Given the description of an element on the screen output the (x, y) to click on. 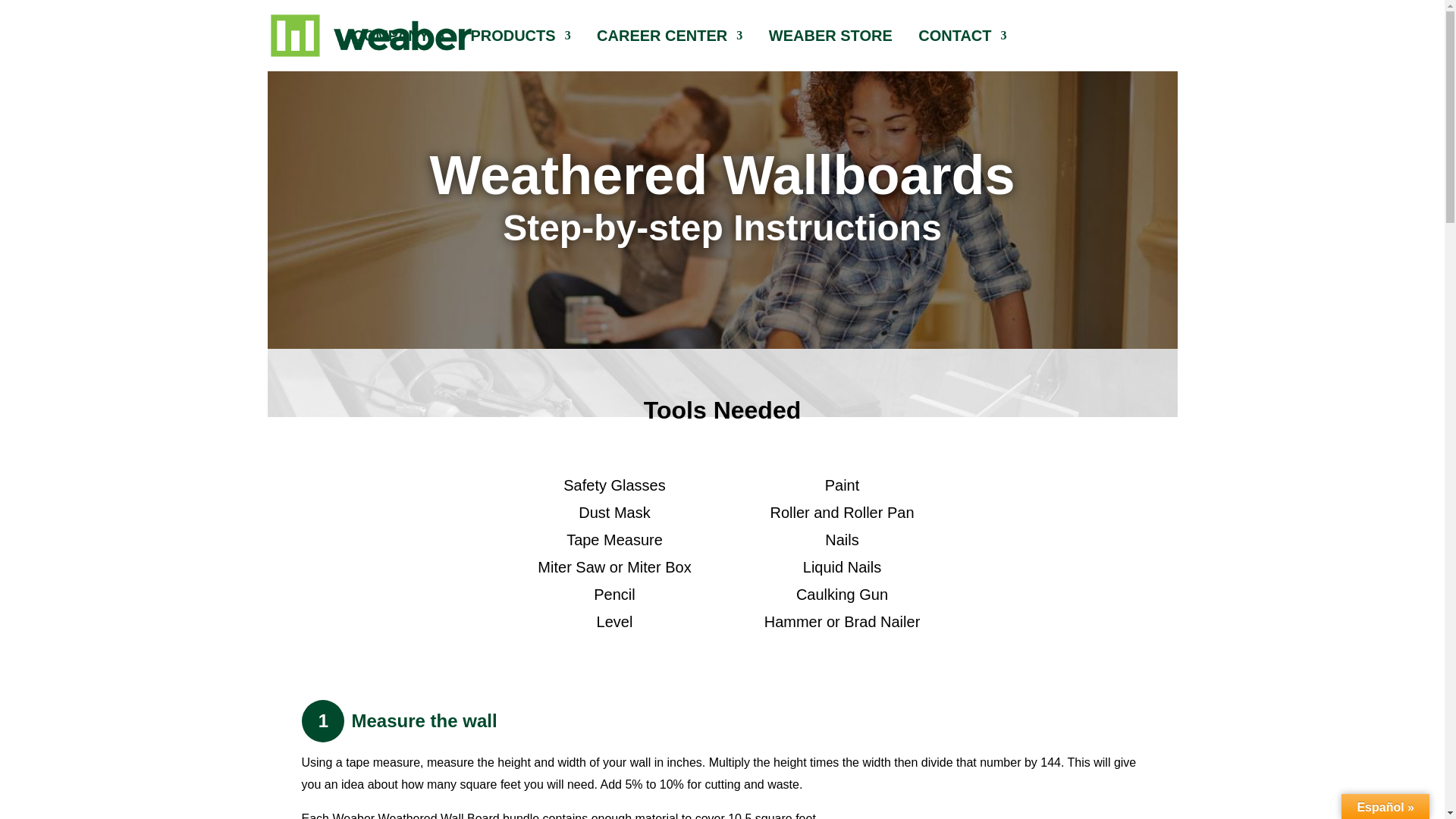
COMPANY (398, 50)
PRODUCTS (520, 50)
WEABER STORE (830, 50)
CONTACT (962, 50)
CAREER CENTER (669, 50)
